Given the description of an element on the screen output the (x, y) to click on. 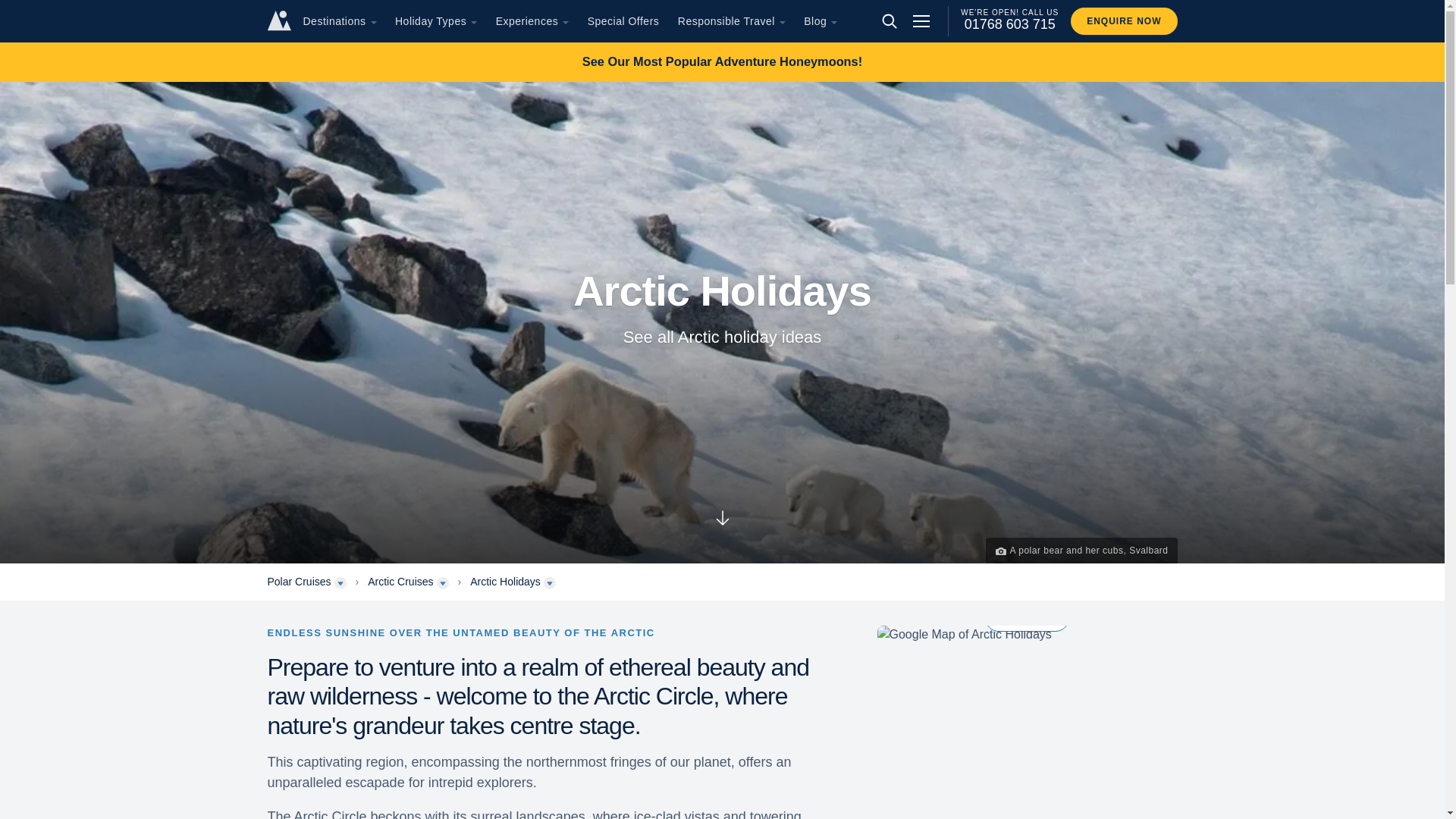
Destinations (334, 21)
Google Map of Arctic Holidays (1026, 634)
